Given the description of an element on the screen output the (x, y) to click on. 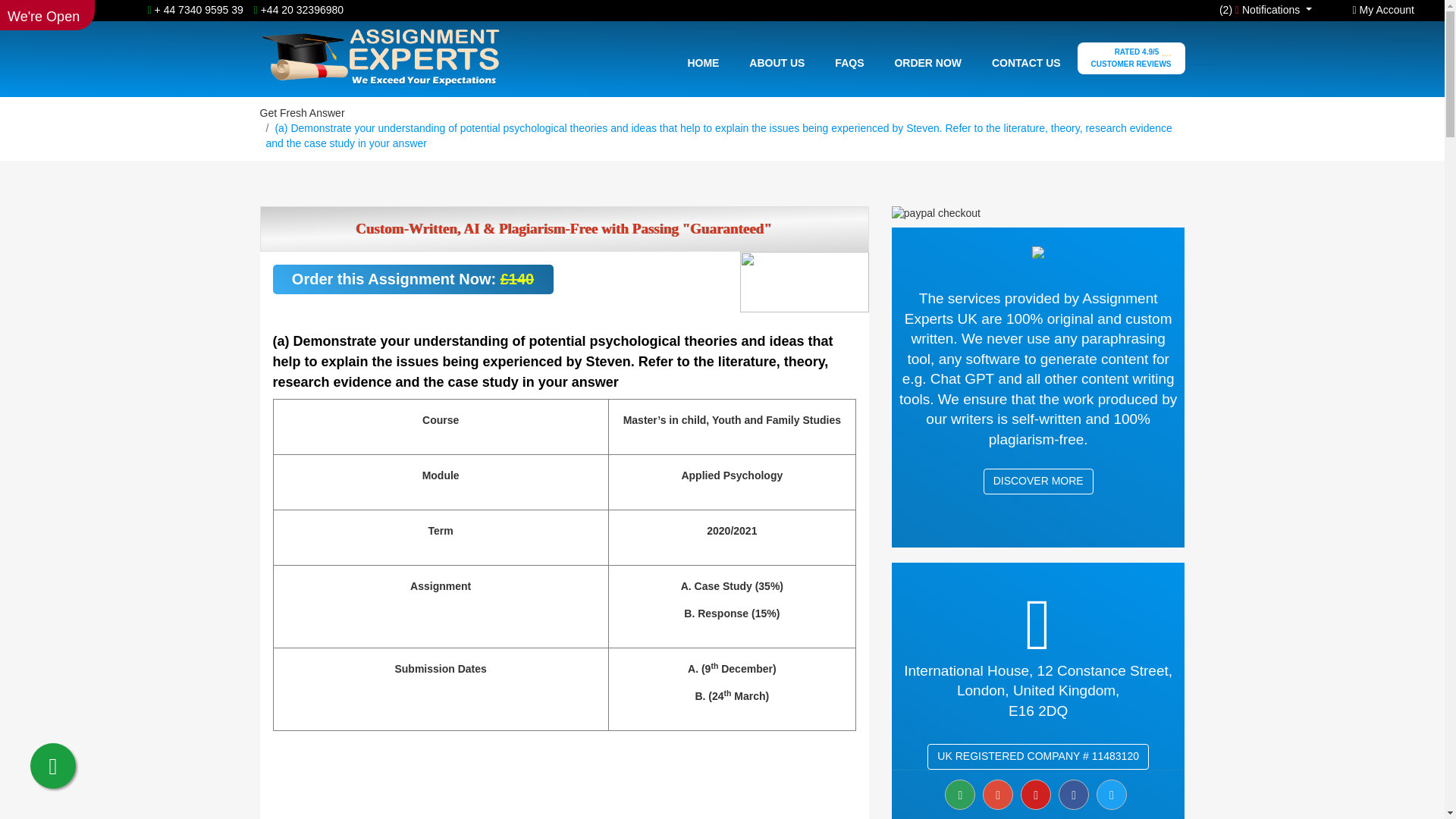
DISCOVER MORE (1038, 481)
Get Fresh Answer (301, 112)
Land Line (294, 9)
ORDER NOW (927, 62)
CONTACT US (1026, 62)
My Account (1382, 9)
Whatsapp (195, 9)
ABOUT US (776, 62)
FAQS (849, 62)
HOME (702, 62)
open chat (997, 794)
Notifications (1291, 9)
